Given the description of an element on the screen output the (x, y) to click on. 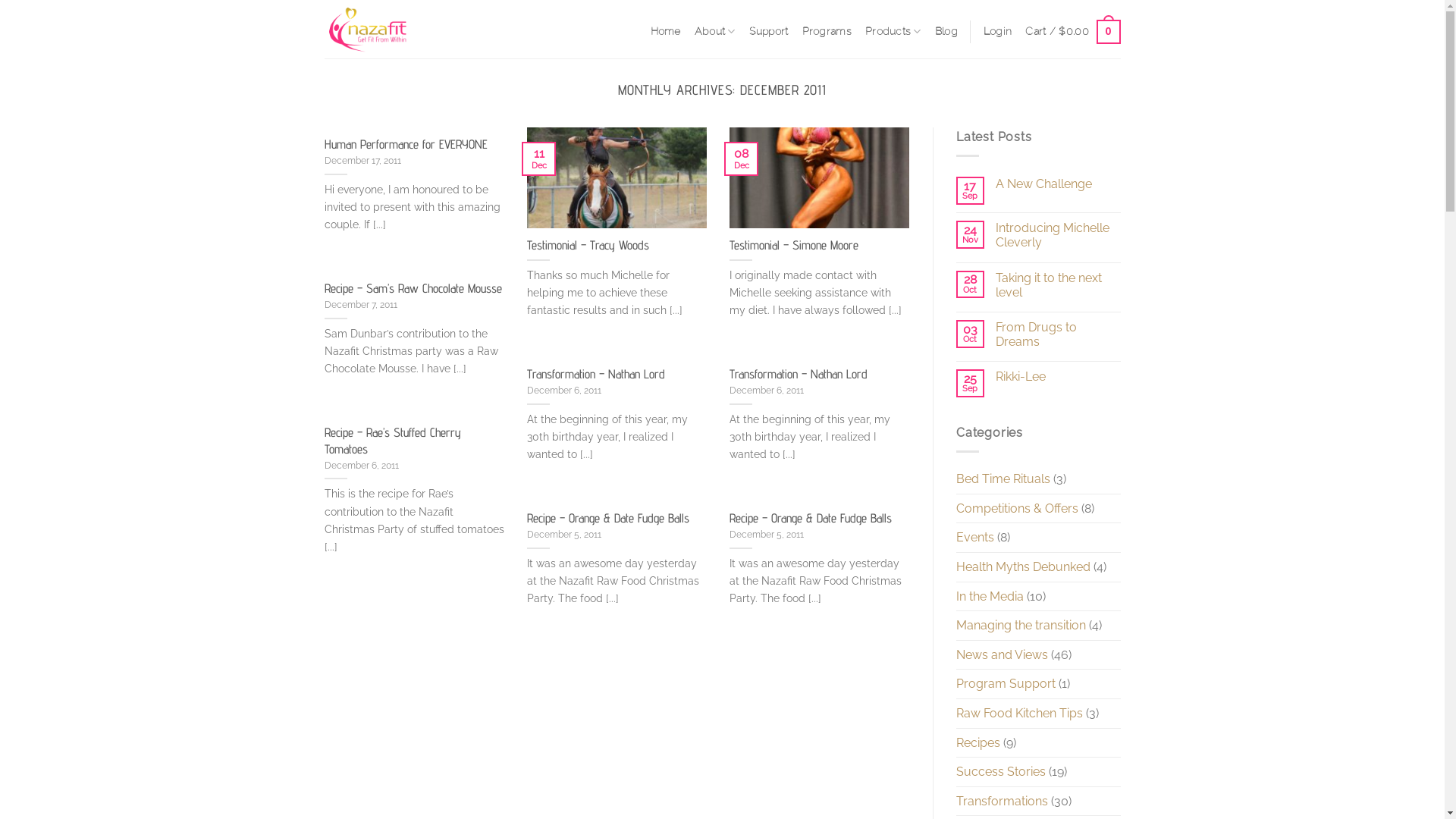
Transformations Element type: text (1002, 801)
Products Element type: text (893, 31)
Success Stories Element type: text (1000, 771)
Taking it to the next level Element type: text (1057, 284)
Program Support Element type: text (1005, 683)
Competitions & Offers Element type: text (1017, 508)
About Element type: text (714, 31)
Support Element type: text (768, 31)
Login Element type: text (997, 31)
Events Element type: text (975, 537)
Bed Time Rituals Element type: text (1003, 478)
Recipes Element type: text (978, 742)
Raw Food Kitchen Tips Element type: text (1019, 713)
Blog Element type: text (946, 31)
Nazafit Online Health & Nutrition - Get Fit From Within Element type: hover (438, 29)
From Drugs to Dreams Element type: text (1057, 334)
In the Media Element type: text (989, 596)
Introducing Michelle Cleverly Element type: text (1057, 234)
Health Myths Debunked Element type: text (1023, 566)
Cart / $0.00
0 Element type: text (1072, 31)
A New Challenge Element type: text (1057, 183)
Rikki-Lee Element type: text (1057, 376)
Home Element type: text (665, 31)
Programs Element type: text (826, 31)
Managing the transition Element type: text (1020, 625)
News and Views Element type: text (1002, 654)
